Given the description of an element on the screen output the (x, y) to click on. 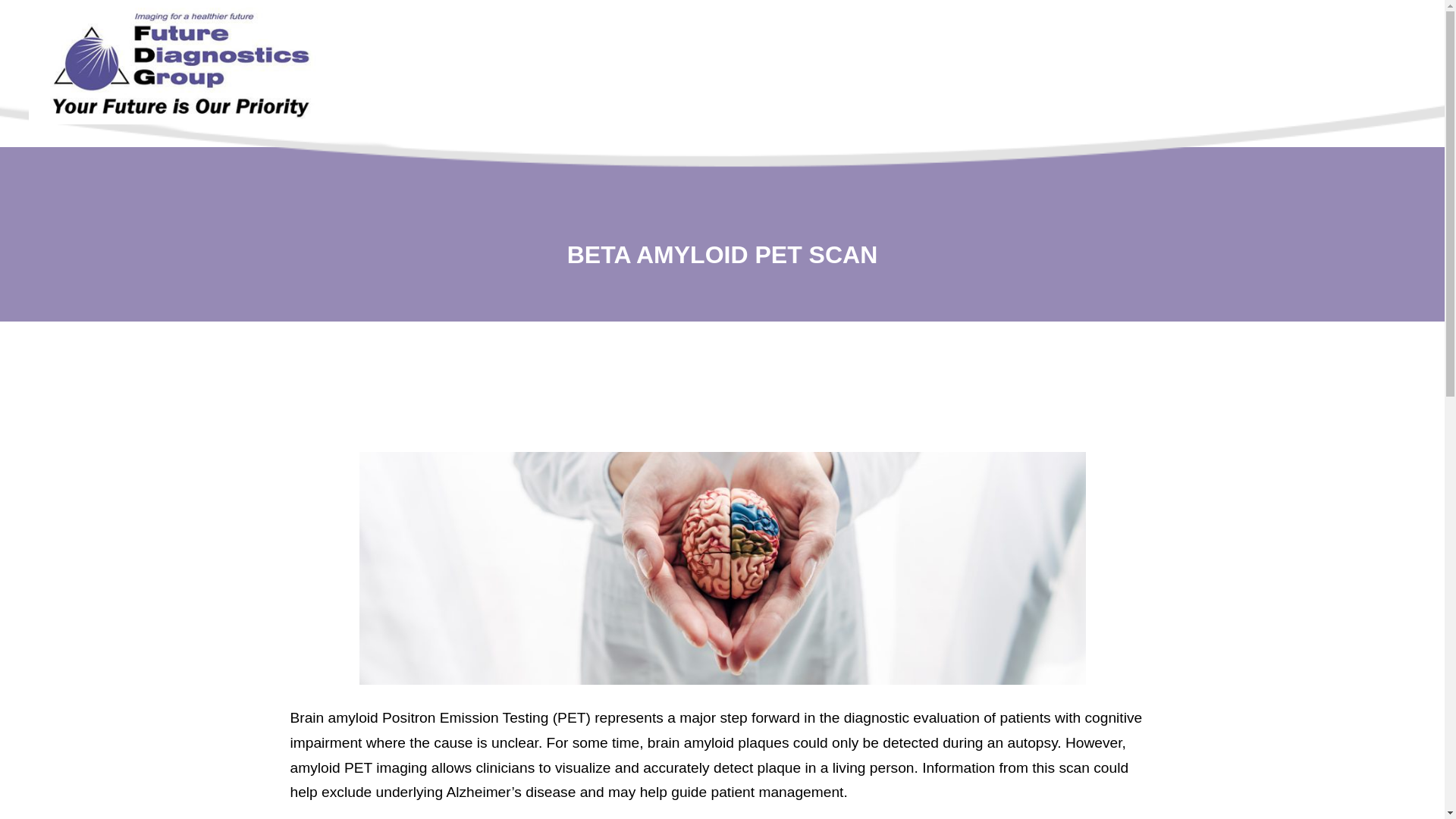
PATIENT (848, 79)
SCANS (727, 79)
COVID (590, 79)
CONTACT US (1227, 79)
PHYSICIANS (947, 79)
DTI (785, 79)
RADIOLOGY NEWS (1086, 79)
HOME (657, 79)
